Given the description of an element on the screen output the (x, y) to click on. 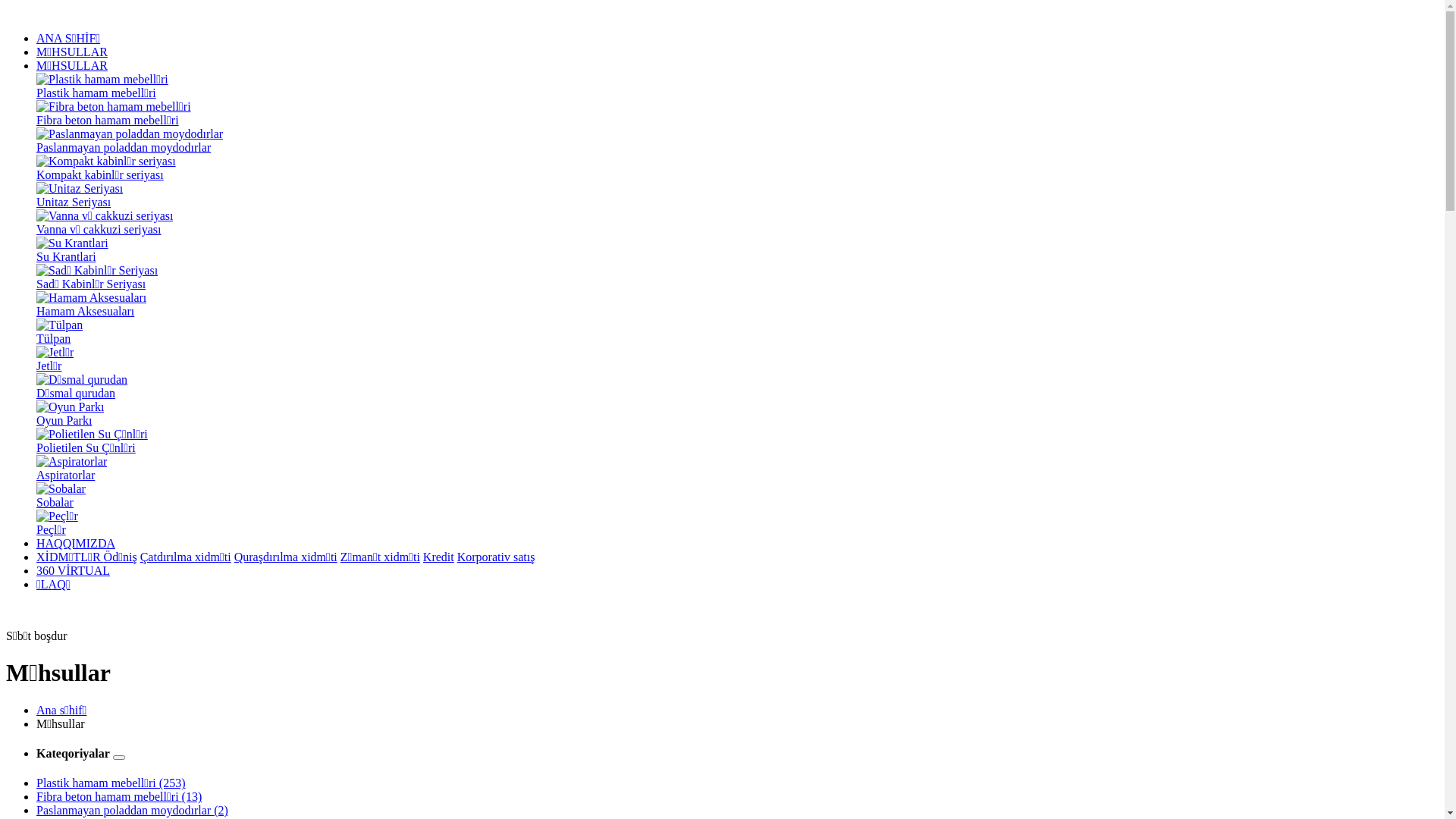
Su Krantlari Element type: text (737, 249)
Sobalar Element type: text (737, 495)
Kredit Element type: text (438, 556)
HAQQIMIZDA Element type: text (75, 542)
Aspiratorlar Element type: text (737, 468)
